Given the description of an element on the screen output the (x, y) to click on. 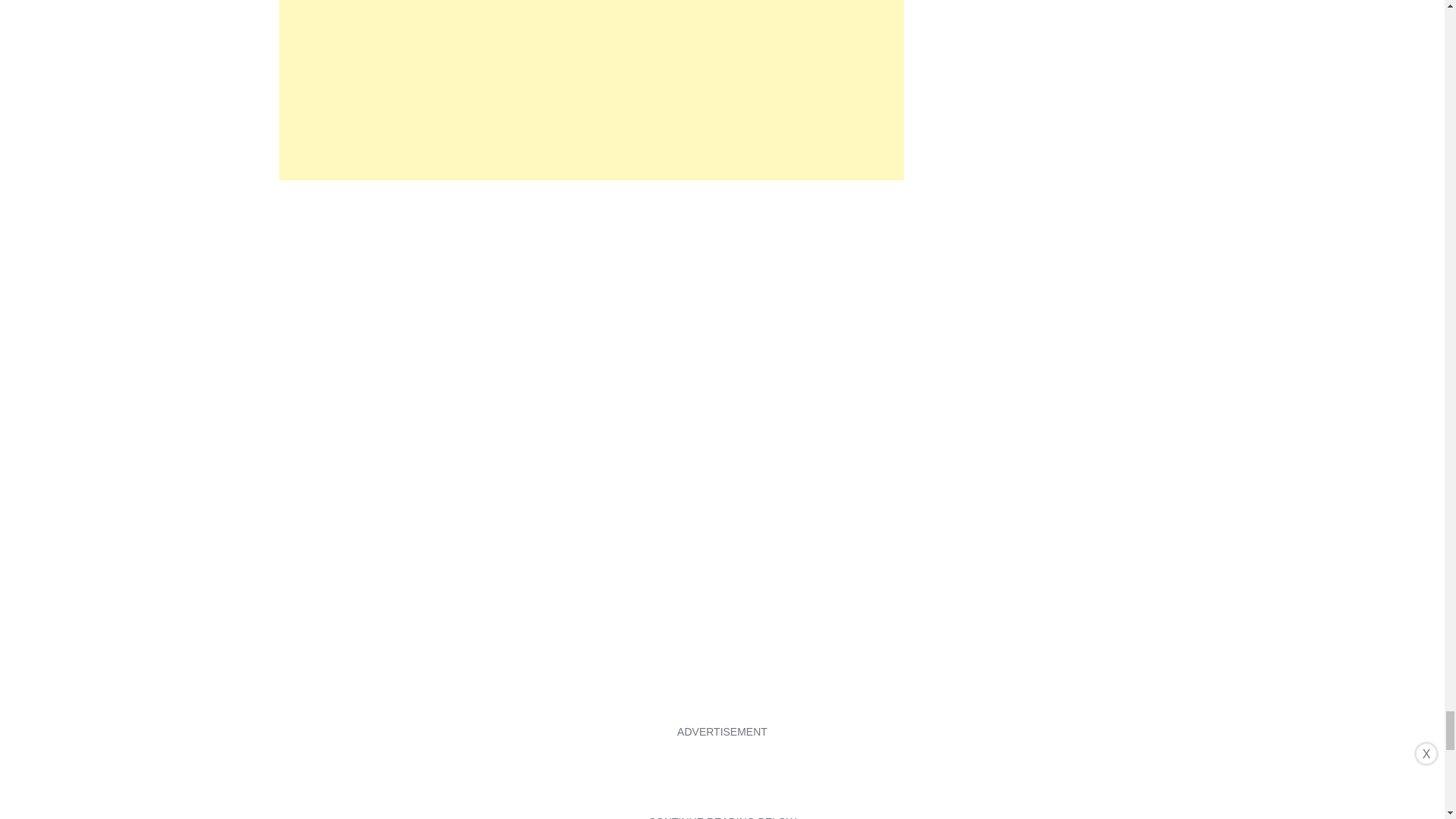
Share on facebook (291, 711)
